Given the description of an element on the screen output the (x, y) to click on. 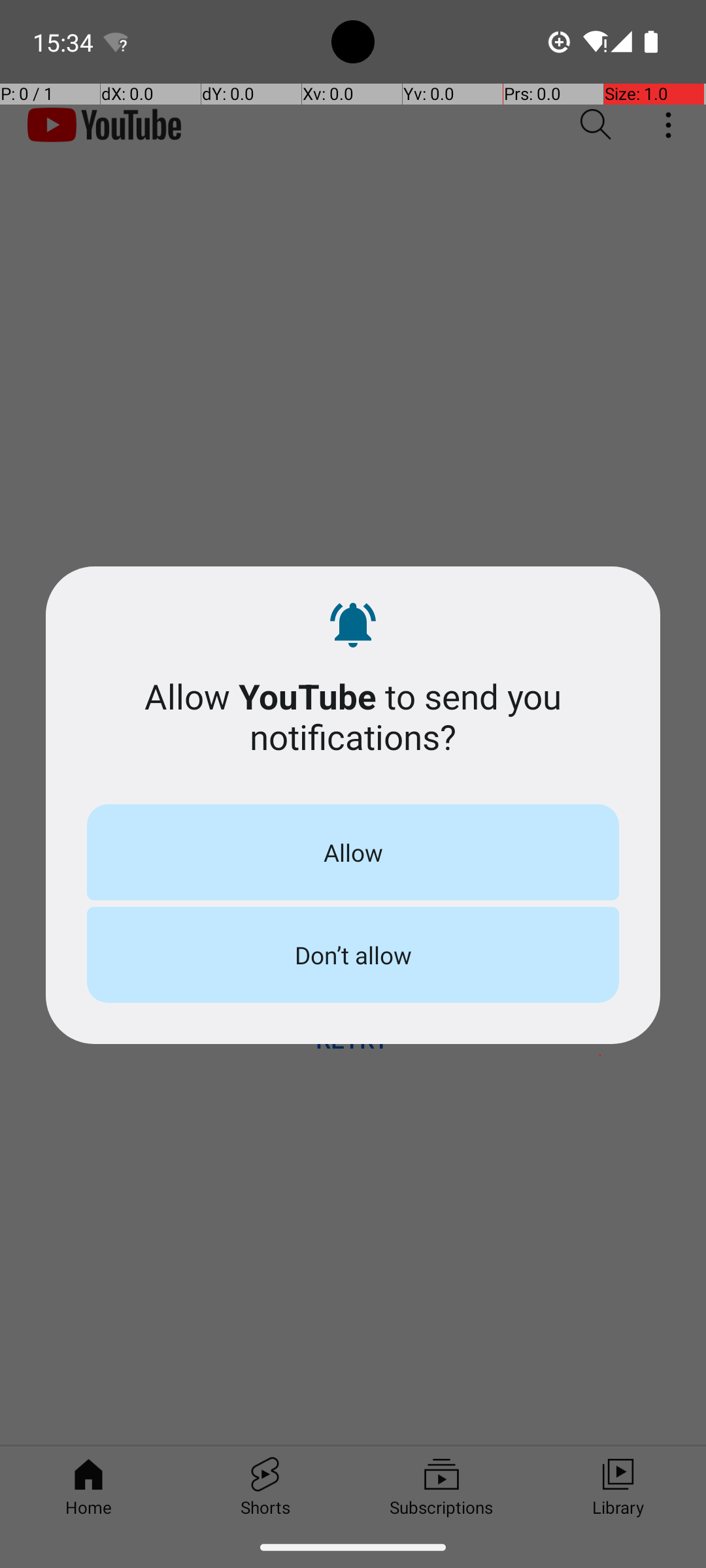
Allow YouTube to send you notifications? Element type: android.widget.TextView (352, 715)
